Given the description of an element on the screen output the (x, y) to click on. 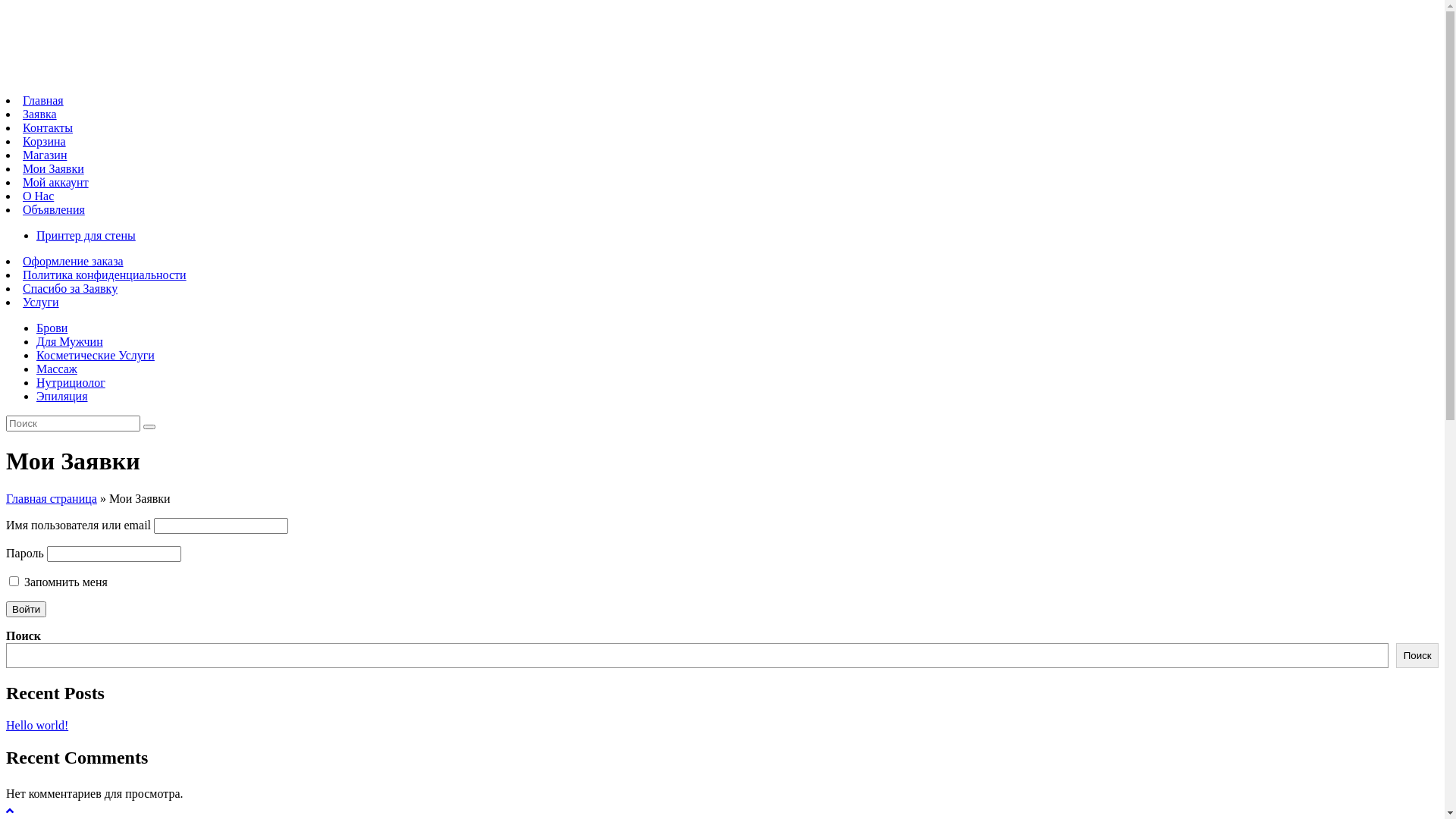
Hello world! Element type: text (37, 724)
